Given the description of an element on the screen output the (x, y) to click on. 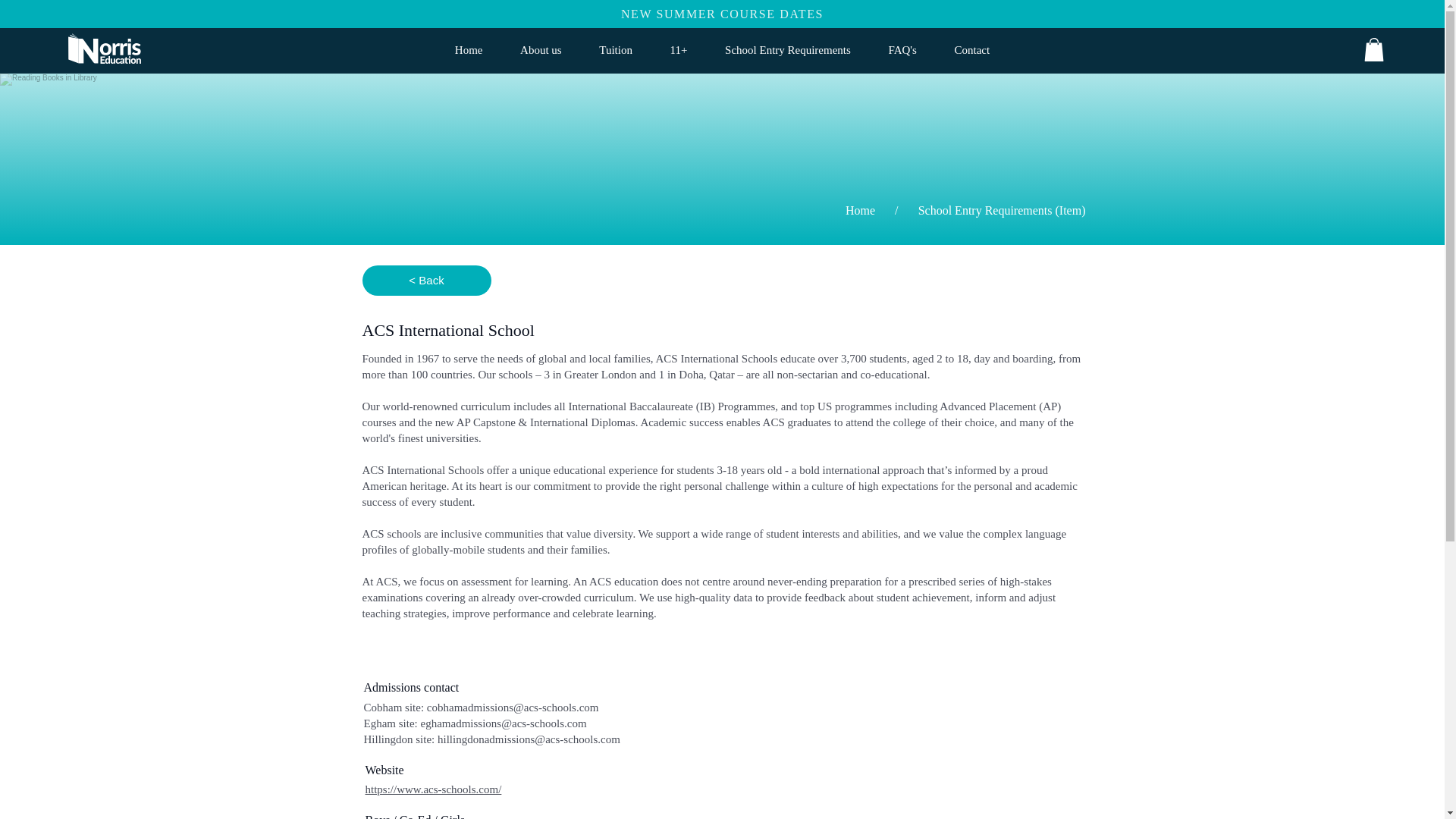
Home (860, 210)
Tuition (615, 50)
School Entry Requirements (787, 50)
NEW SUMMER COURSE DATES (722, 13)
Contact (972, 50)
About us (539, 50)
FAQ's (902, 50)
Home (468, 50)
